Given the description of an element on the screen output the (x, y) to click on. 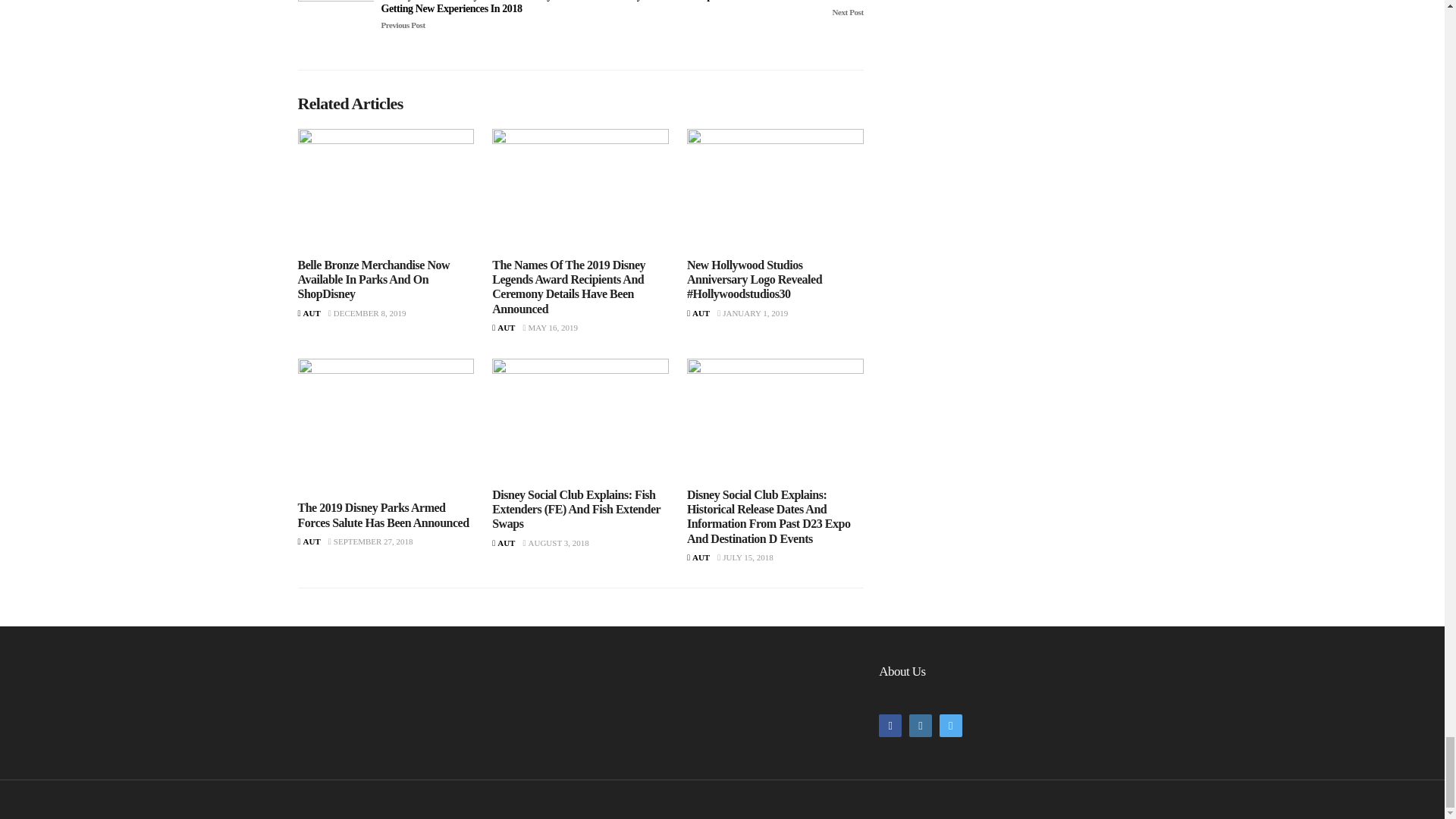
The 2019 Disney Parks Armed Forces Salute Has Been Announced (385, 423)
AUT (503, 327)
AUT (308, 312)
